Given the description of an element on the screen output the (x, y) to click on. 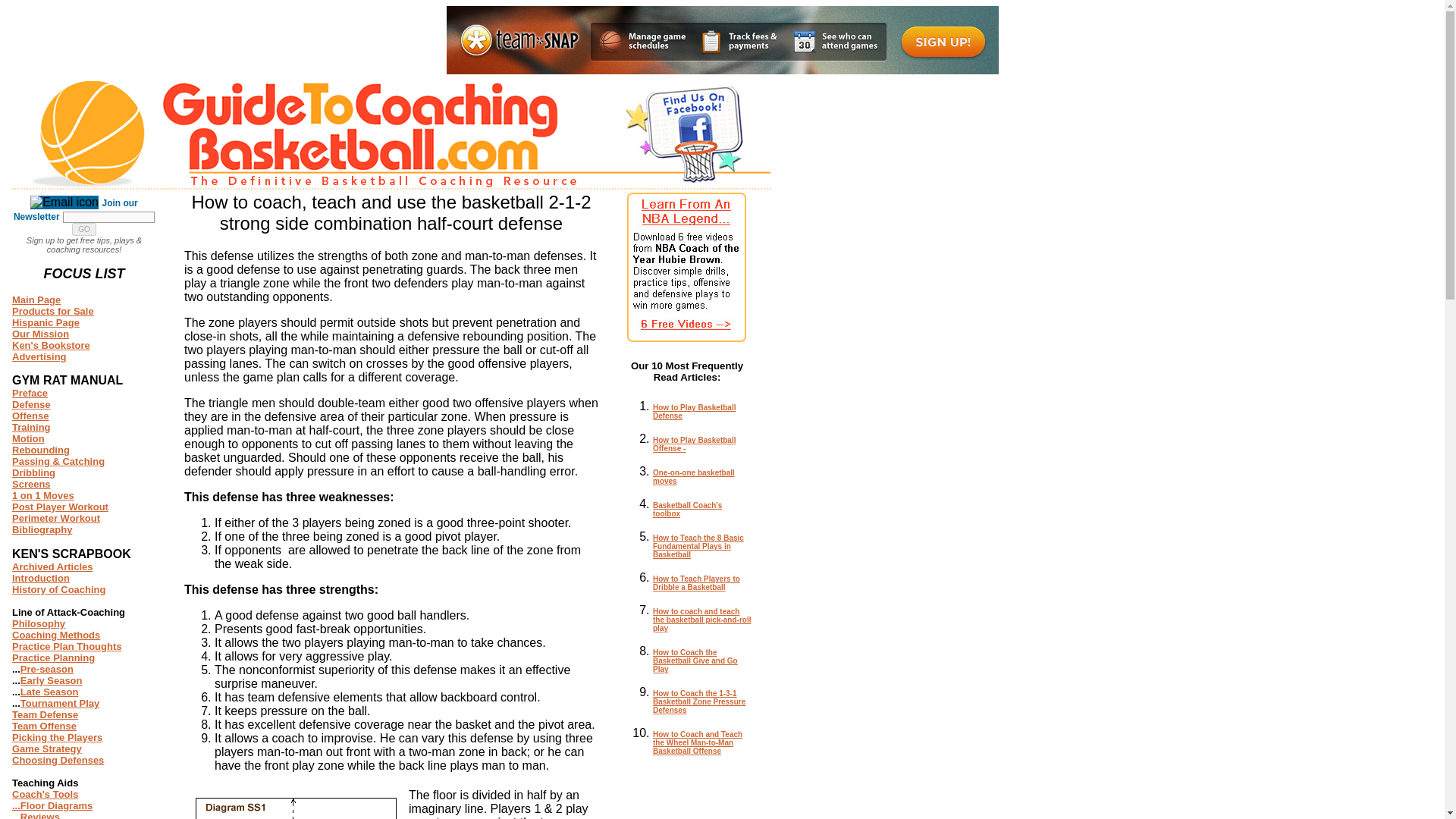
Introduction (40, 577)
Team Defense (44, 714)
Choosing Defenses (57, 759)
Archived Articles (52, 566)
Practice Planning (52, 657)
Hispanic Page (45, 322)
Perimeter Workout (55, 518)
Picking the Players (56, 737)
History of Coaching (58, 589)
...Floor Diagrams (52, 805)
Late Season (49, 691)
Products for Sale (52, 310)
1 on 1 Moves (42, 495)
Our Mission (39, 333)
Training (30, 427)
